Given the description of an element on the screen output the (x, y) to click on. 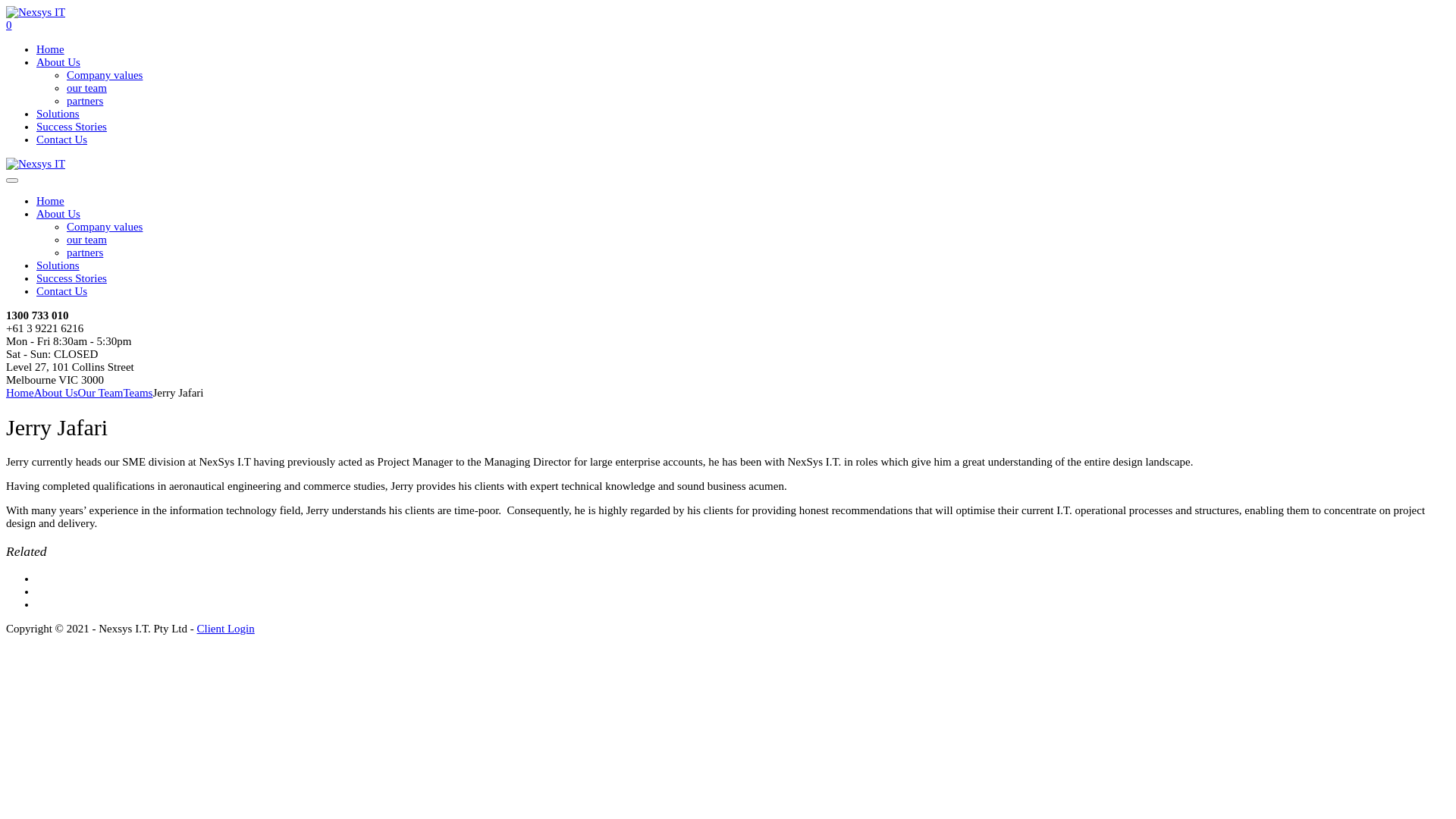
Our Team Element type: text (100, 392)
partners Element type: text (84, 252)
partners Element type: text (84, 100)
our team Element type: text (86, 239)
Home Element type: text (20, 392)
Contact Us Element type: text (61, 139)
About Us Element type: text (58, 62)
Success Stories Element type: text (71, 126)
Company values Element type: text (104, 75)
Teams Element type: text (137, 392)
About Us Element type: text (58, 213)
0 Element type: text (9, 24)
Home Element type: text (50, 49)
Solutions Element type: text (57, 113)
our team Element type: text (86, 87)
Contact Us Element type: text (61, 291)
About Us Element type: text (56, 392)
Client Login Element type: text (225, 628)
Solutions Element type: text (57, 265)
Success Stories Element type: text (71, 278)
Company values Element type: text (104, 226)
Home Element type: text (50, 200)
